Given the description of an element on the screen output the (x, y) to click on. 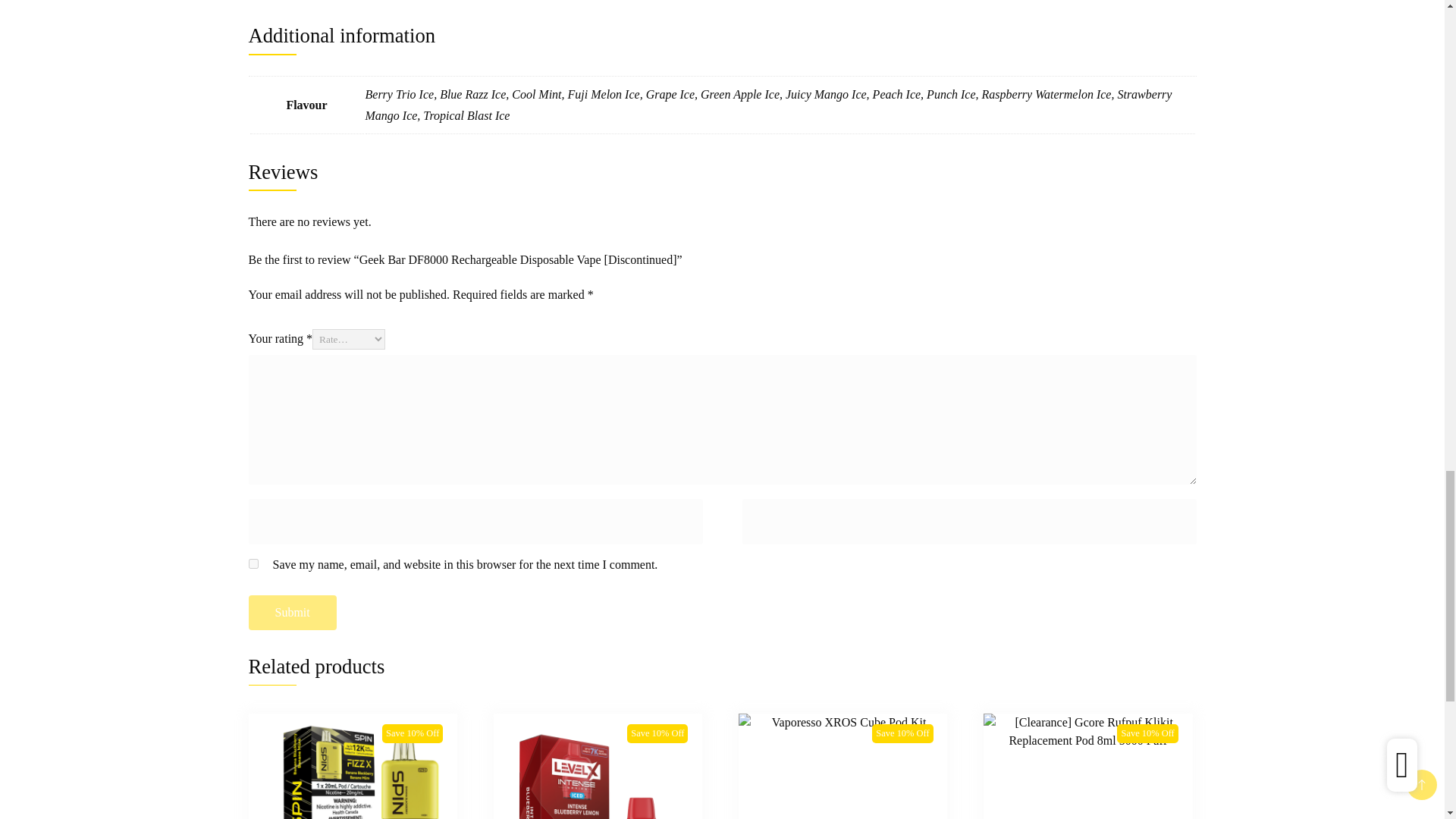
yes (253, 563)
Submit (292, 612)
